Given the description of an element on the screen output the (x, y) to click on. 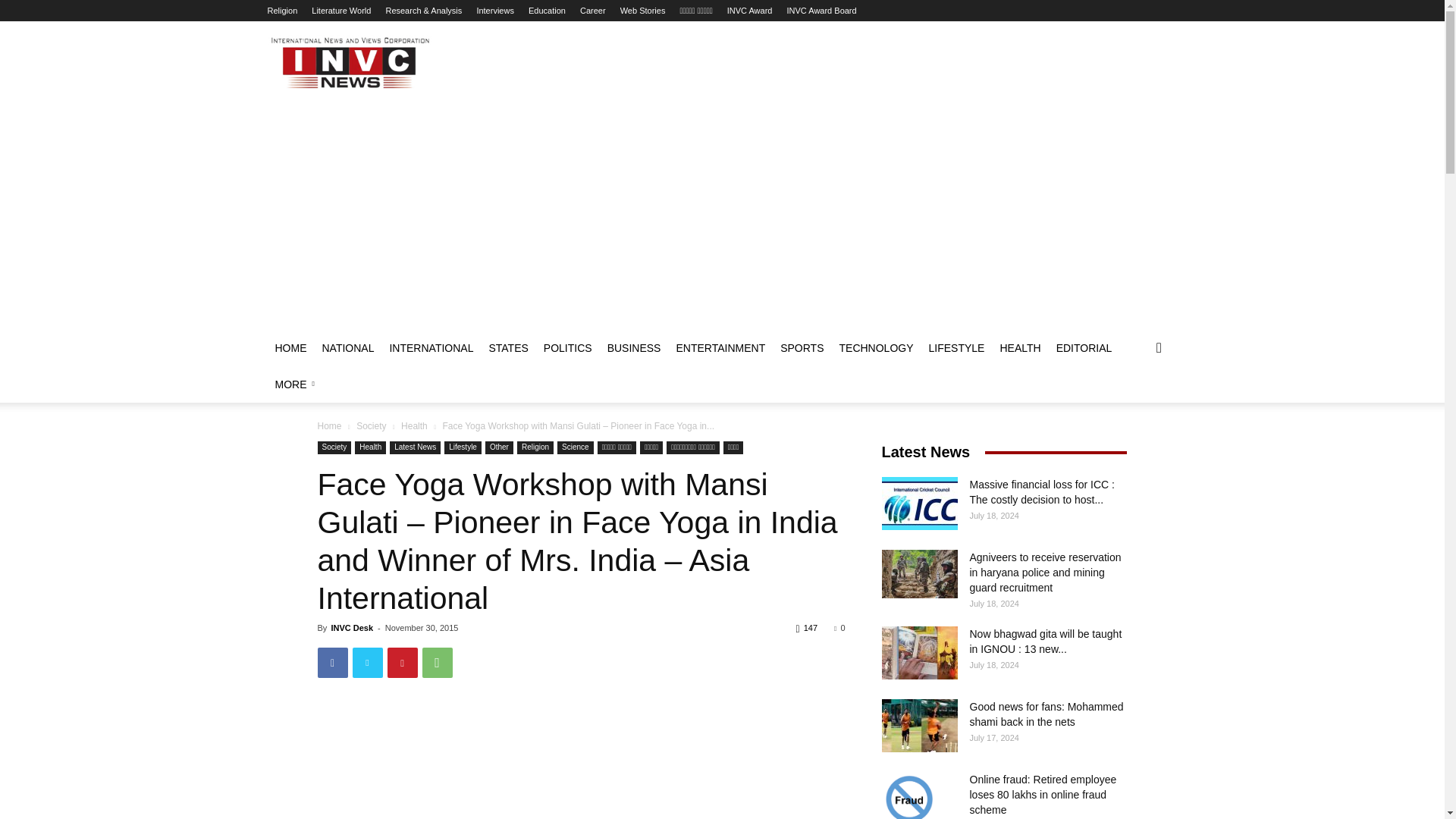
INVC Award Board (822, 10)
Web Stories (642, 10)
Education (547, 10)
Religion (281, 10)
Career (592, 10)
INVC (348, 62)
Mansi Gulati, Face Yoga Expert in India (580, 762)
Interviews (494, 10)
View all posts in Society (370, 425)
View all posts in Health (414, 425)
Literature World (341, 10)
INVC Award (749, 10)
